Given the description of an element on the screen output the (x, y) to click on. 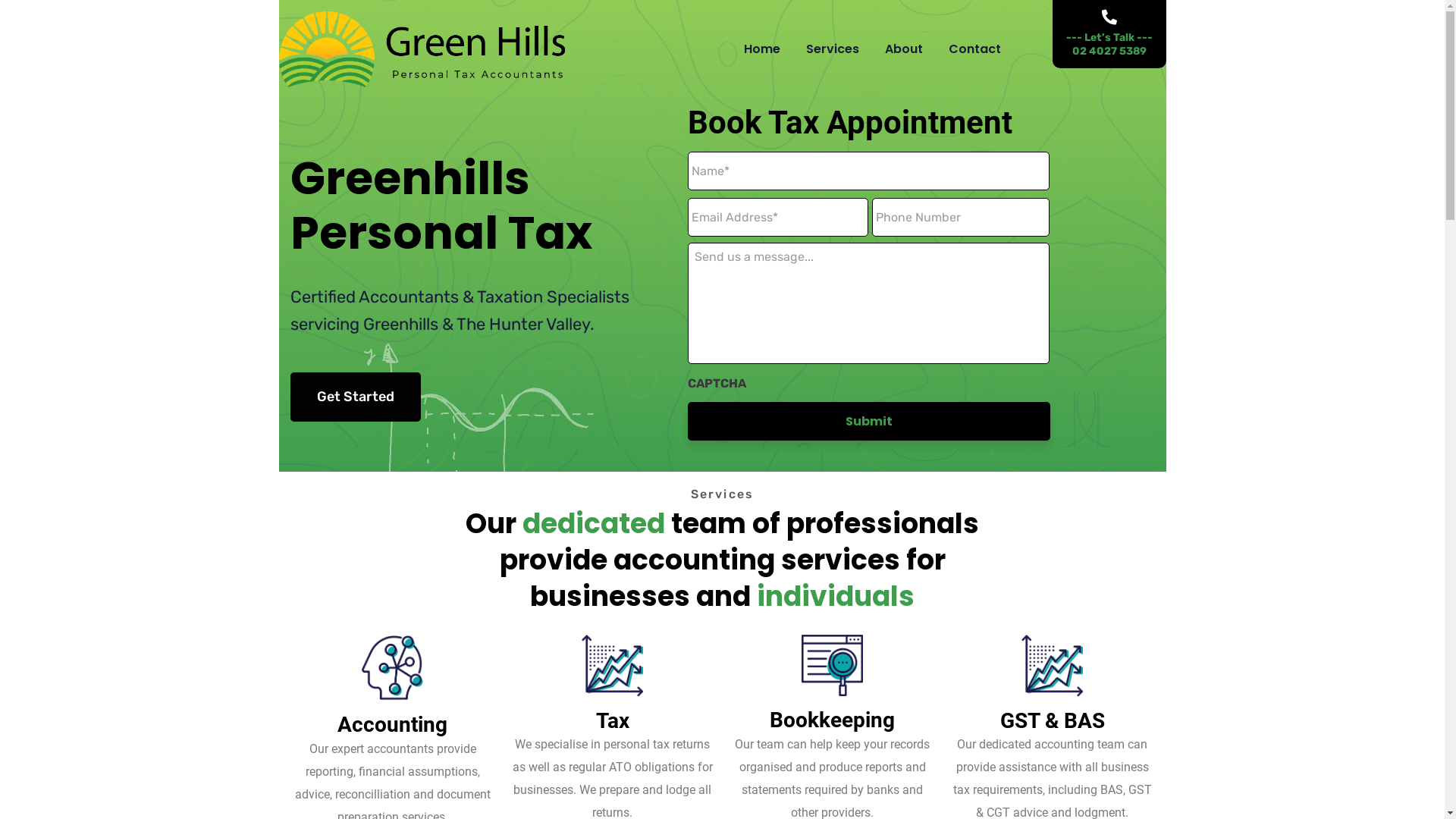
Greenhills Personal Tax Element type: hover (422, 49)
Contact Element type: text (973, 49)
Home Element type: text (761, 49)
02 4027 5389 Element type: text (563, 589)
Get Started Element type: text (354, 396)
Bottrell Media Element type: text (797, 771)
Services Element type: text (831, 49)
About Element type: text (903, 49)
Submit Element type: text (868, 420)
